Given the description of an element on the screen output the (x, y) to click on. 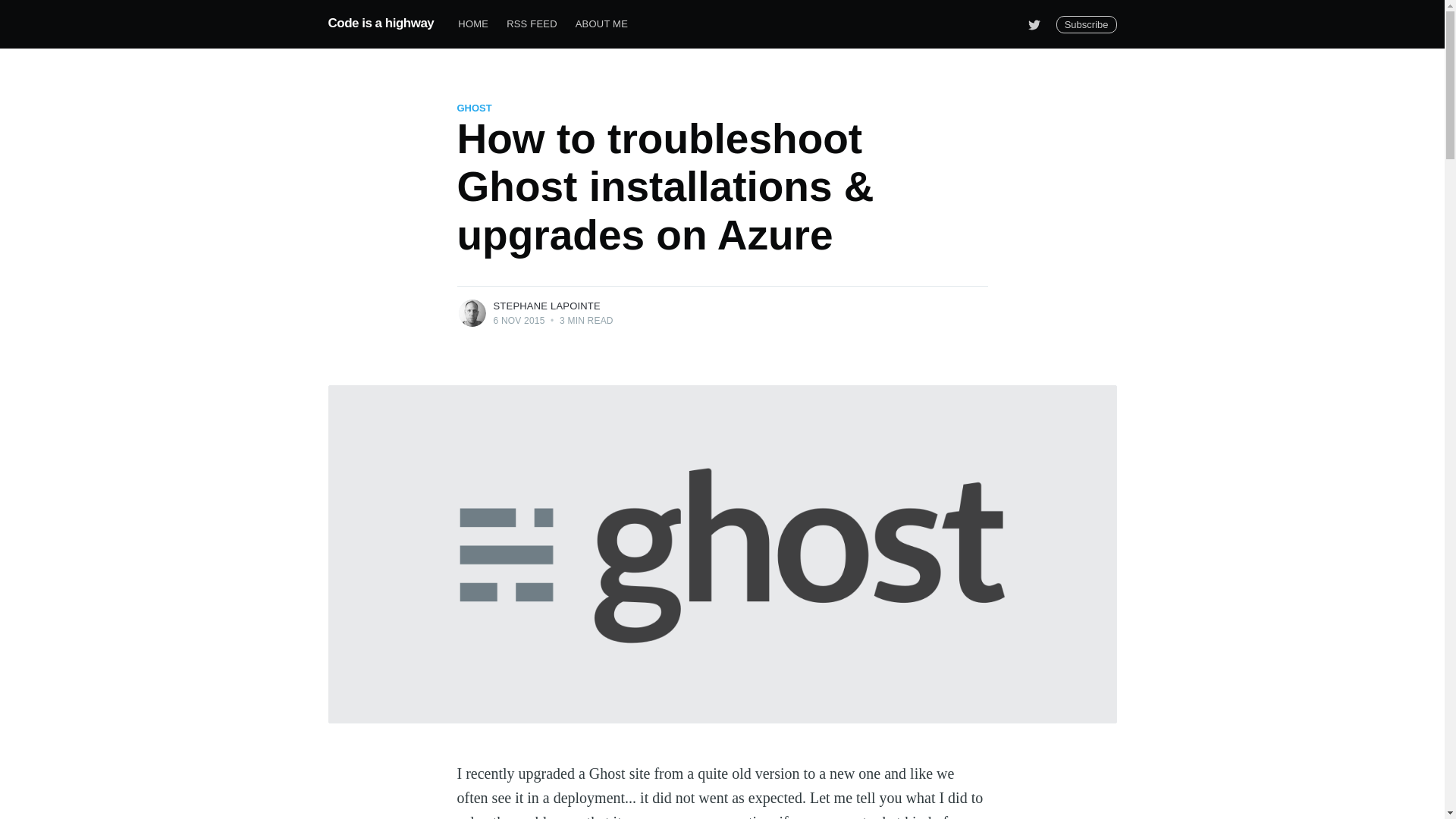
Subscribe (1086, 23)
RSS FEED (531, 24)
STEPHANE LAPOINTE (546, 306)
GHOST (474, 108)
Code is a highway (380, 23)
ABOUT ME (601, 24)
HOME (472, 24)
